Given the description of an element on the screen output the (x, y) to click on. 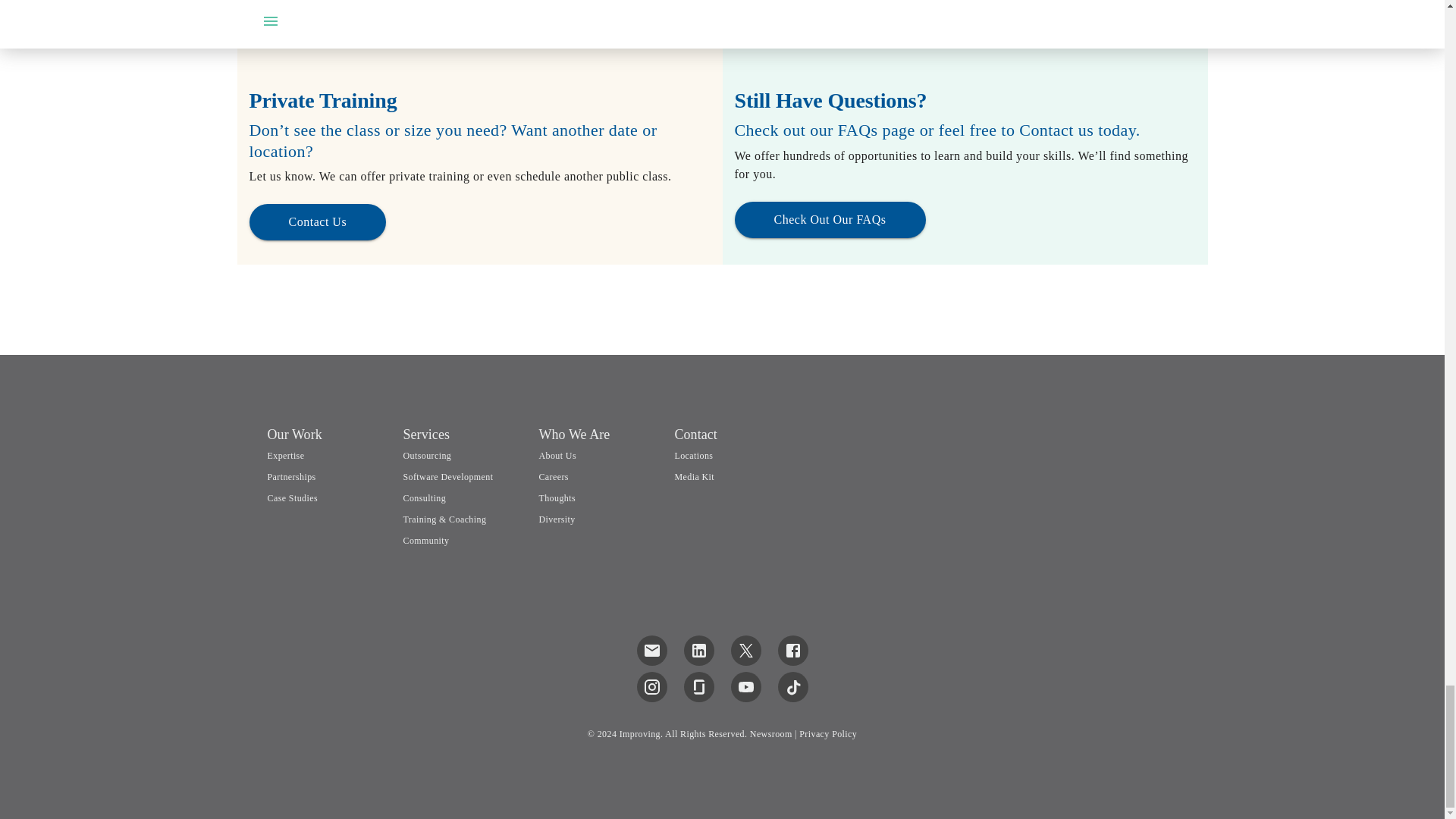
Check Out Our FAQs (828, 217)
Careers (552, 476)
Diversity (556, 519)
About Us (557, 455)
Case Studies (328, 499)
Consulting (424, 498)
Thoughts (556, 498)
Check Out Our FAQs (828, 219)
Contact Us (316, 221)
Expertise (285, 455)
Partnerships (290, 476)
Media Kit (694, 476)
Locations (693, 455)
Contact Us (316, 220)
Outsourcing (427, 455)
